Given the description of an element on the screen output the (x, y) to click on. 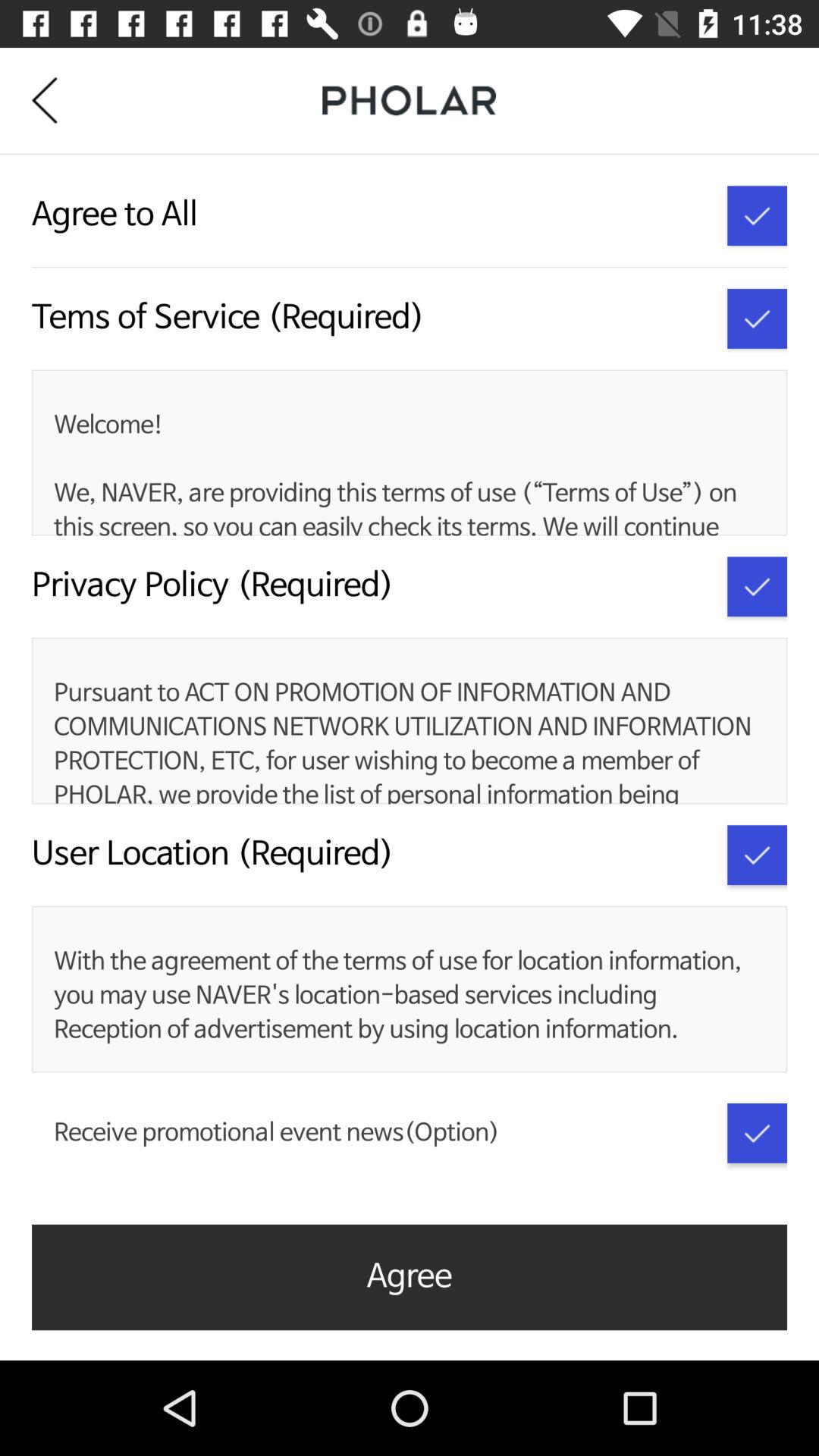
toggle receive promotional event news (757, 1133)
